Given the description of an element on the screen output the (x, y) to click on. 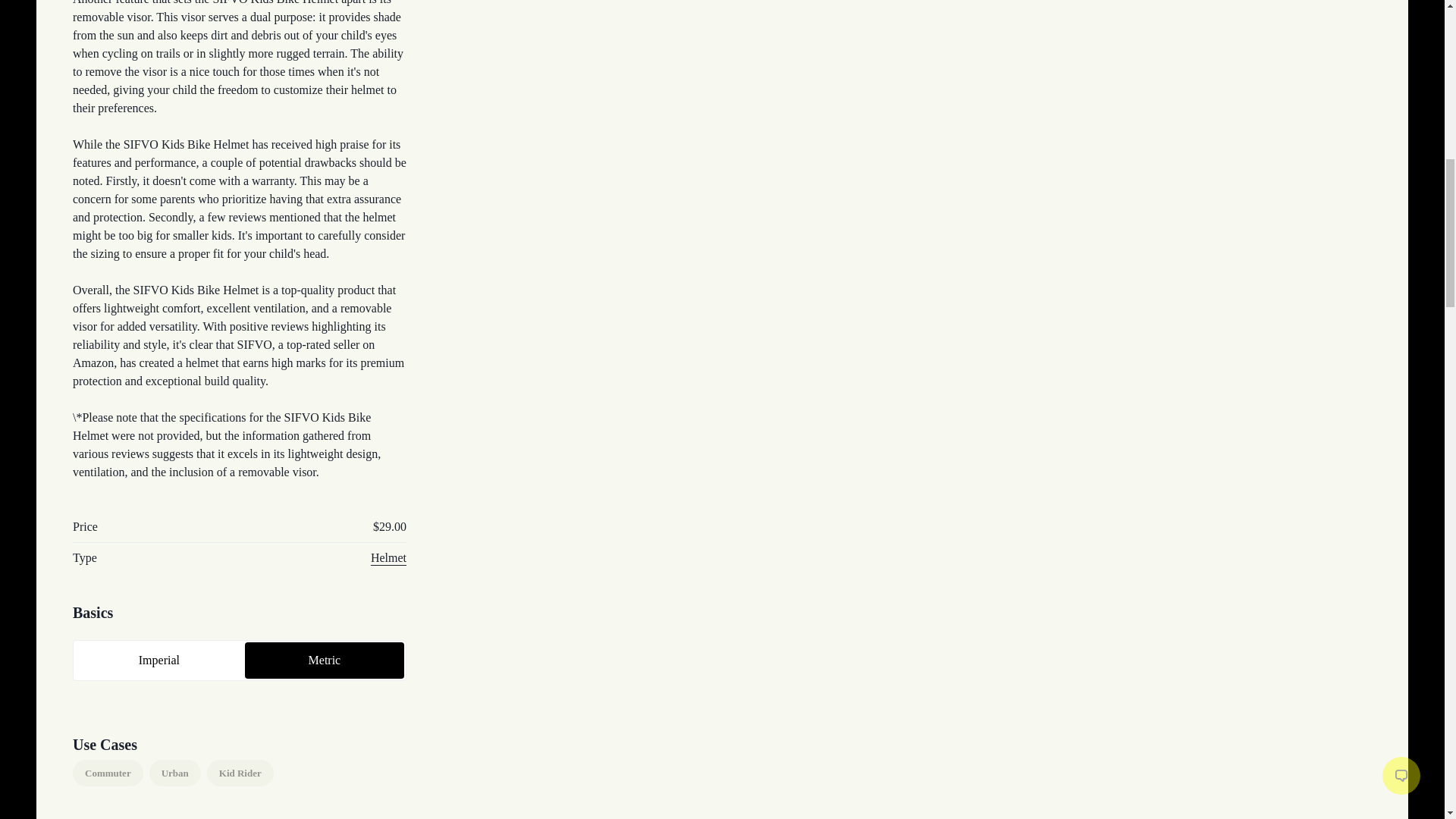
Urban (174, 773)
Commuter (107, 773)
Helmet (388, 557)
Kid Rider (239, 773)
